Given the description of an element on the screen output the (x, y) to click on. 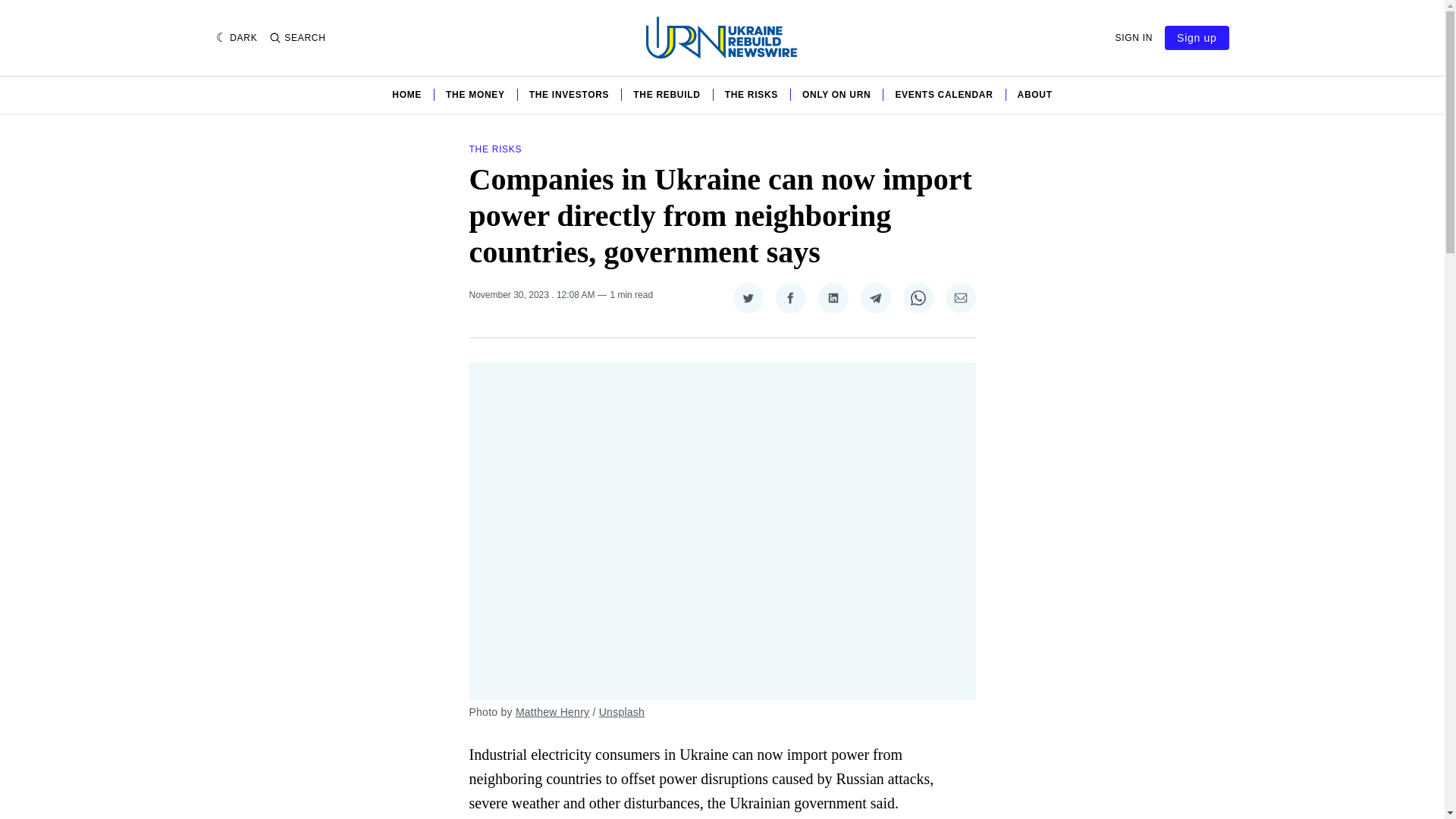
Unsplash (621, 711)
Share on WhatsApp (917, 297)
THE INVESTORS (569, 94)
THE RISKS (494, 149)
SIGN IN (1134, 37)
Sign up (1196, 37)
Share via Email (959, 297)
ABOUT (1034, 94)
Share on Telegram (874, 297)
THE REBUILD (666, 94)
